Given the description of an element on the screen output the (x, y) to click on. 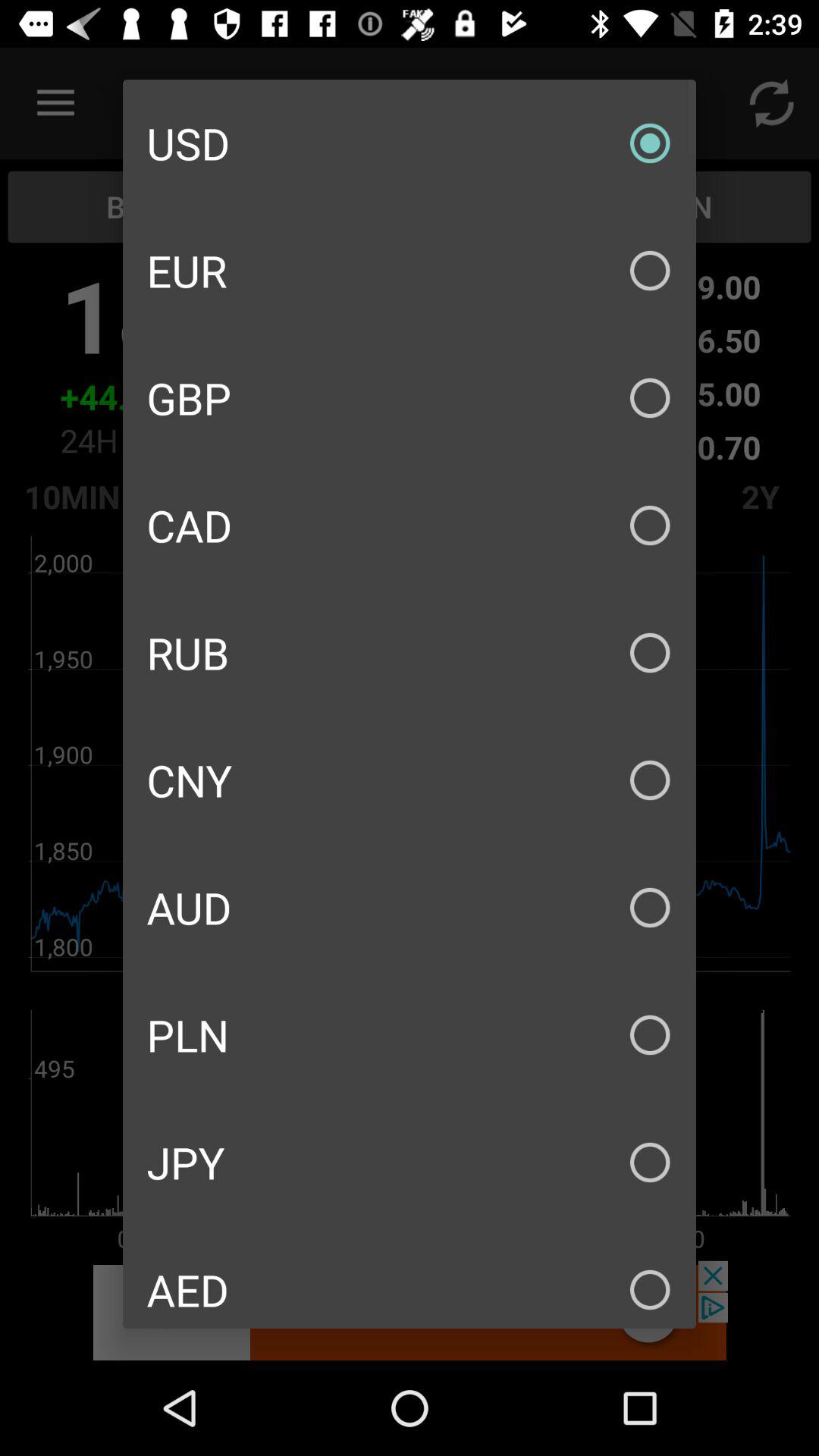
click usd icon (409, 143)
